Given the description of an element on the screen output the (x, y) to click on. 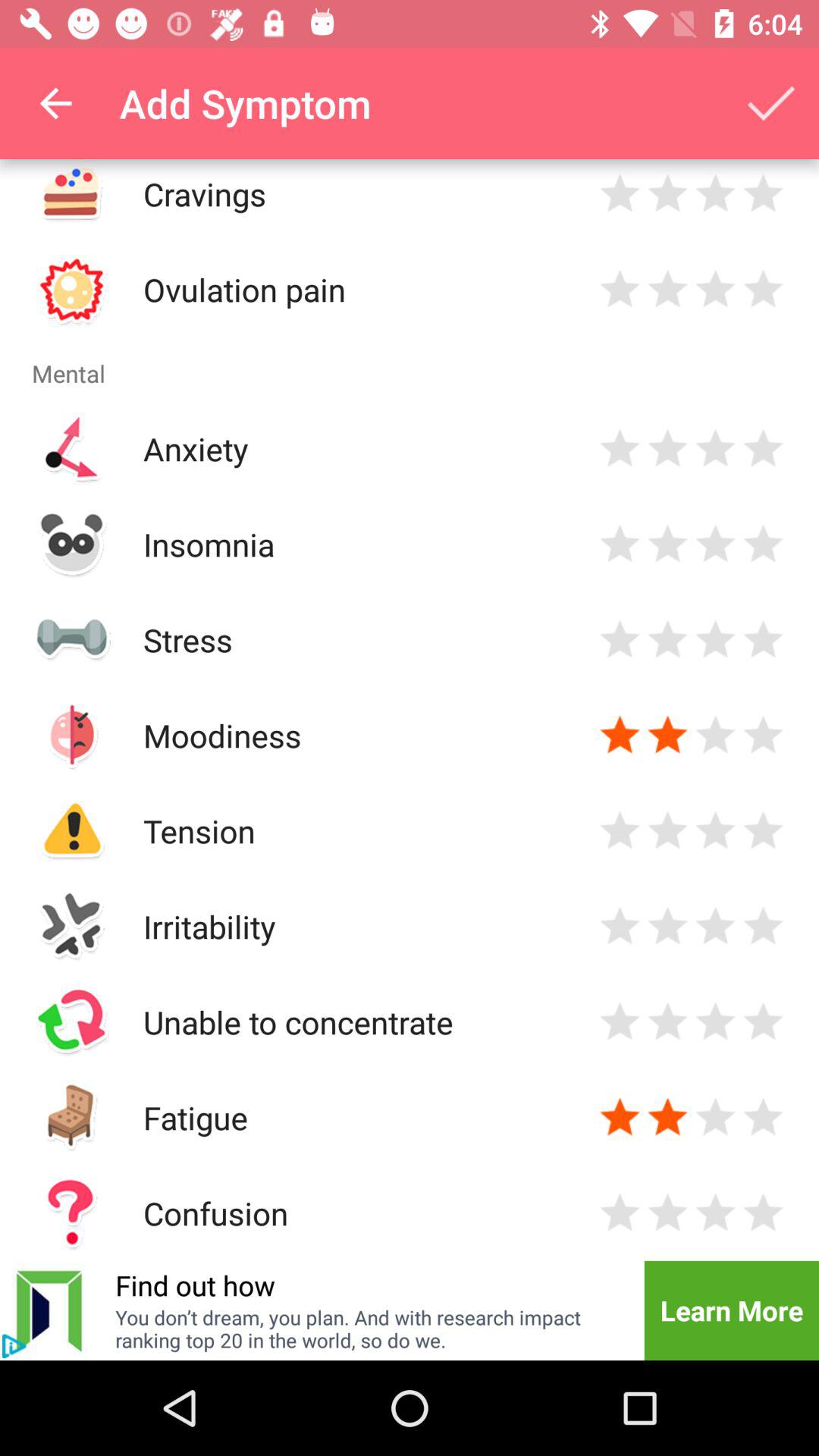
rate difficulty (763, 1021)
